Given the description of an element on the screen output the (x, y) to click on. 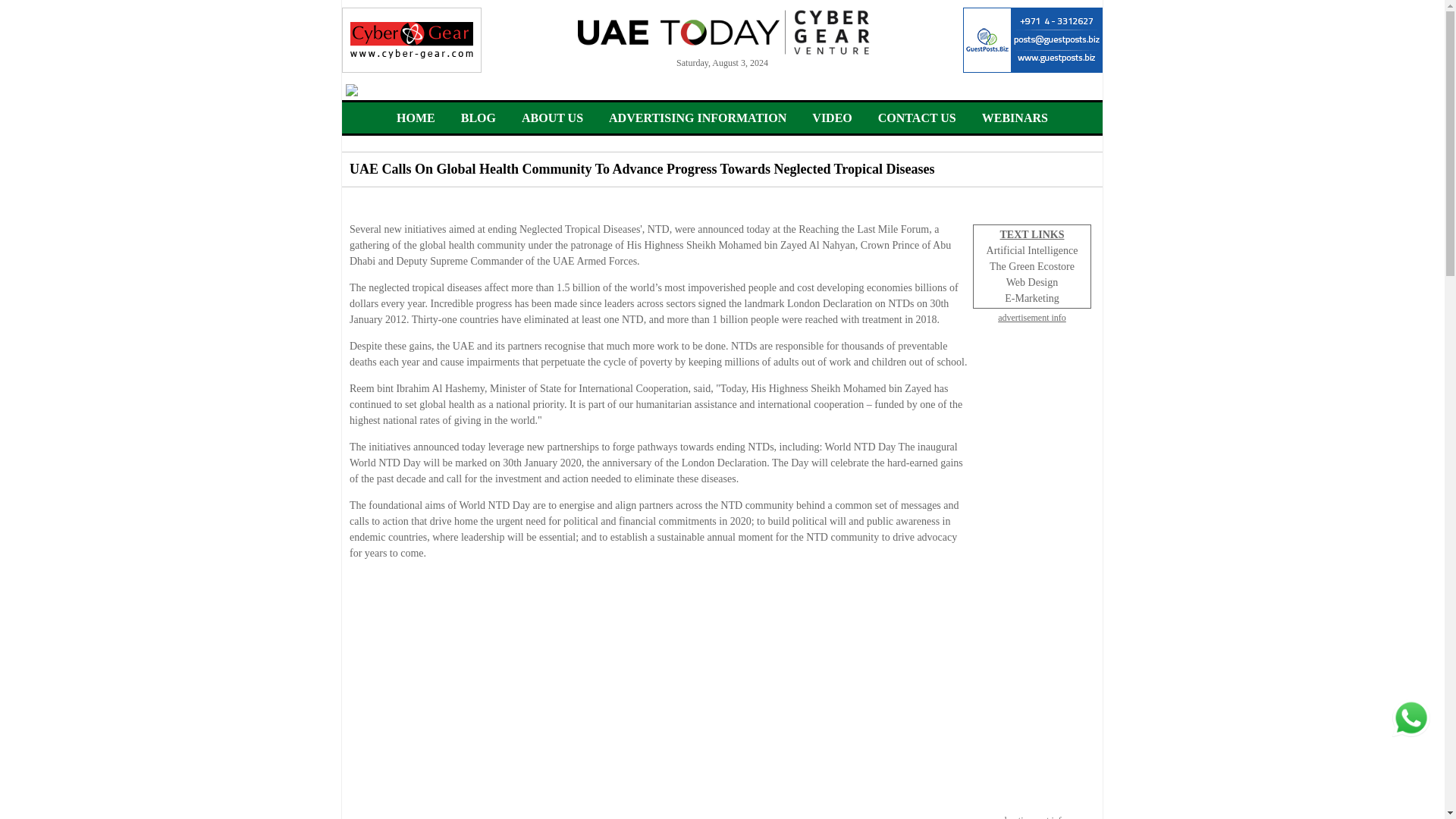
Find out more (722, 90)
WEBINARS (1014, 117)
Artificial Intelligence (1032, 250)
Cyber Gear (411, 39)
ABOUT US (552, 117)
advertisement info (1031, 317)
BLOG (478, 117)
E-Marketing (1031, 297)
ADVERTISING INFORMATION (697, 117)
UAE Today (722, 32)
ONLY webinars (1014, 117)
Web Design (1032, 282)
advertisement info (1031, 816)
VIDEO (831, 117)
The Green Ecostore (1032, 266)
